Given the description of an element on the screen output the (x, y) to click on. 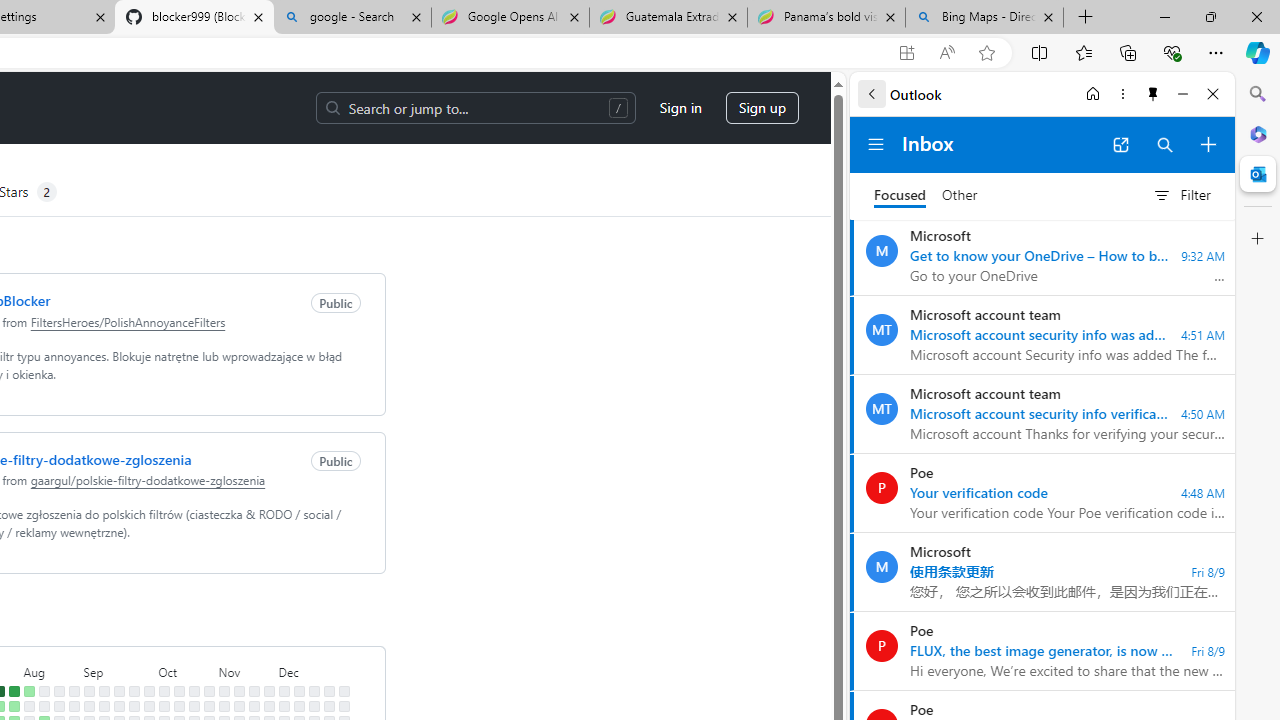
October (186, 670)
No contributions on December 15th. (314, 691)
No contributions on August 25th. (73, 691)
Other (959, 195)
No contributions on August 11th. (43, 691)
App available. Install GitHub (906, 53)
No contributions on August 5th. (28, 706)
No contributions on November 17th. (253, 691)
No contributions on December 8th. (298, 691)
No contributions on November 18th. (253, 706)
